Given the description of an element on the screen output the (x, y) to click on. 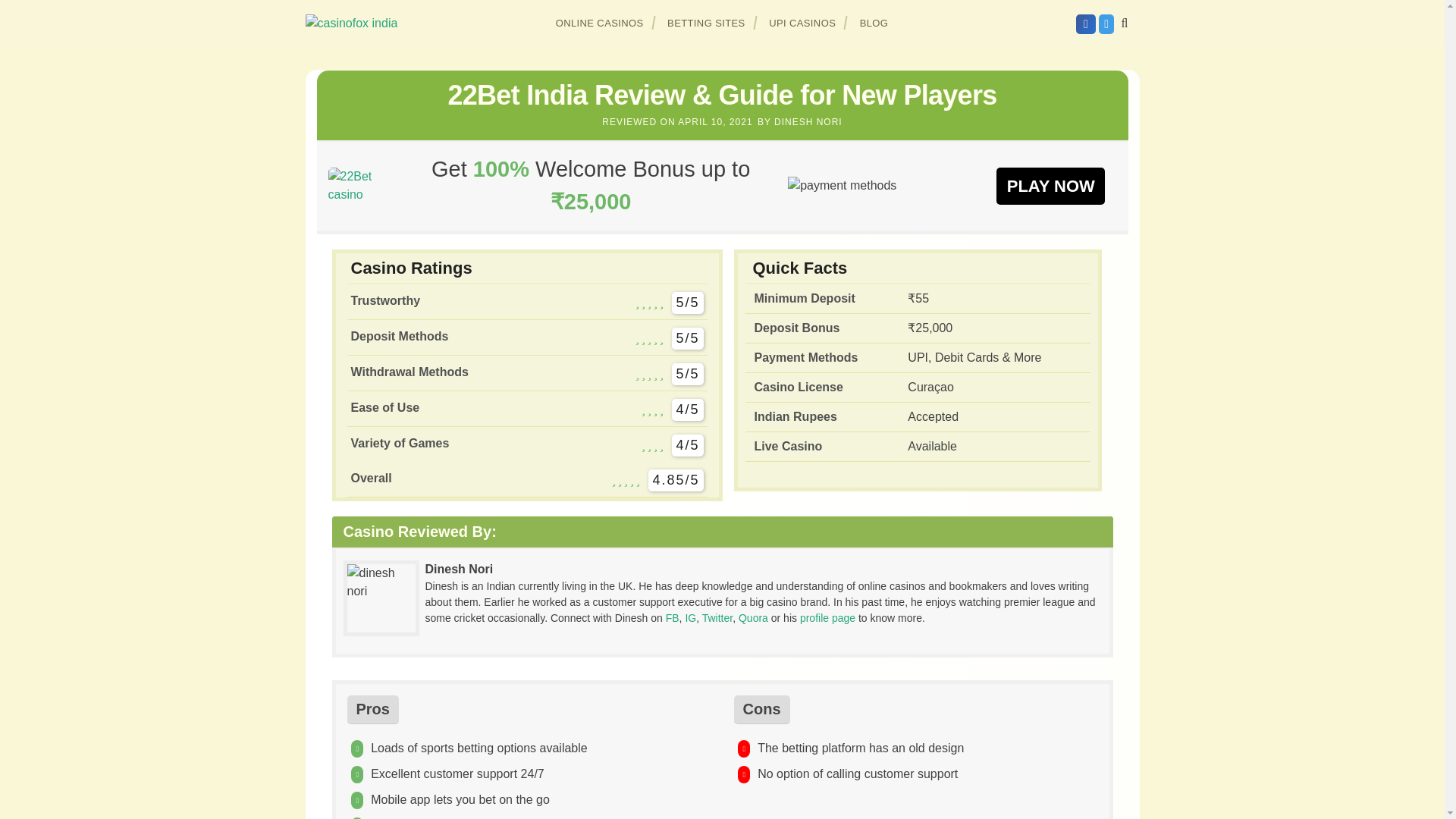
IG (689, 617)
BETTING SITES (706, 23)
PLAY NOW (1050, 185)
Quora (753, 617)
22Bet (360, 185)
22Bet (1050, 185)
ONLINE CASINOS (599, 23)
profile page (827, 617)
BLOG (874, 23)
UPI CASINOS (801, 23)
